Given the description of an element on the screen output the (x, y) to click on. 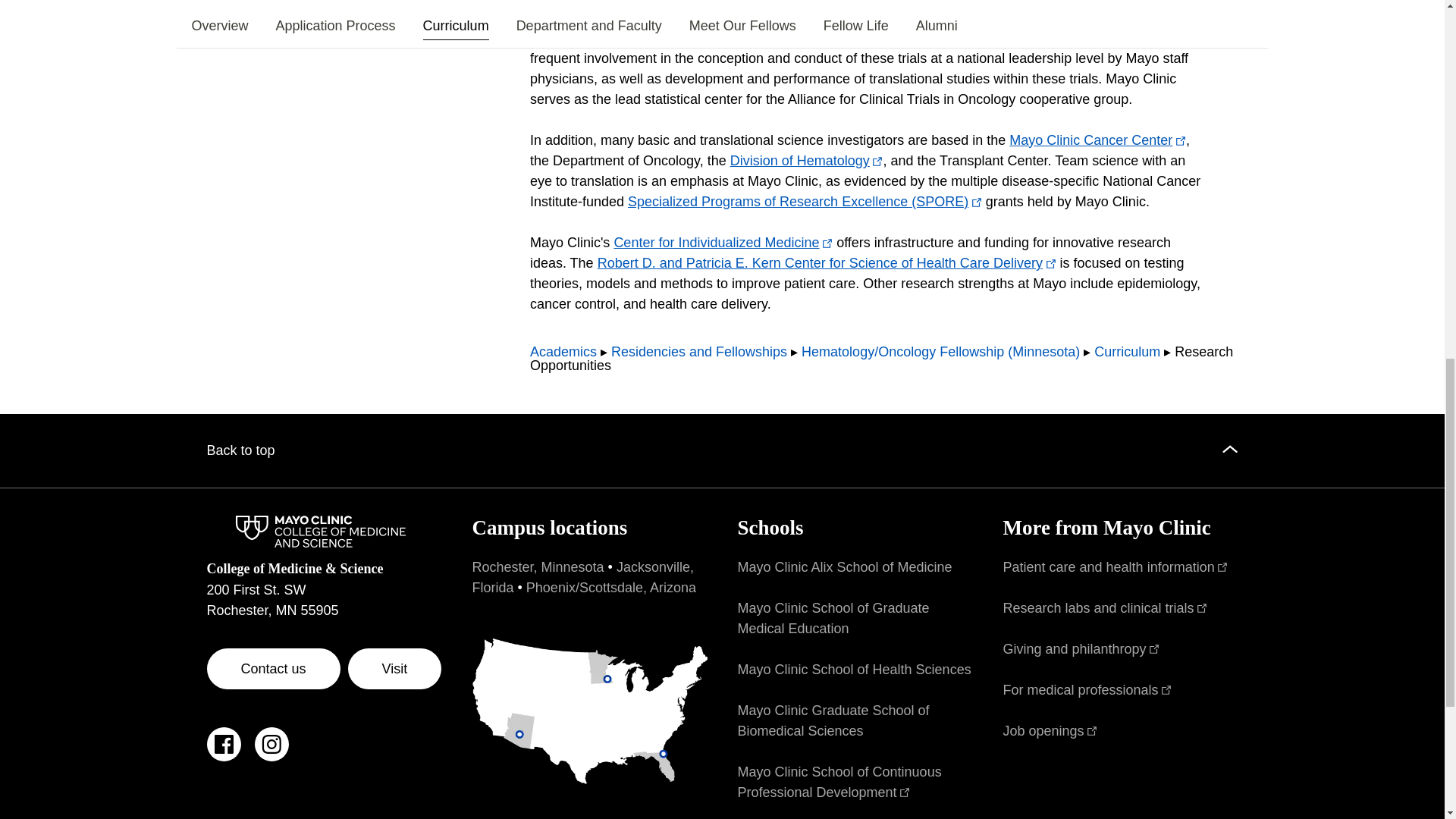
College of Medicine and Science Facebook (223, 751)
Back to top of page (722, 450)
College of Medicine and Science Instagram (271, 751)
